Given the description of an element on the screen output the (x, y) to click on. 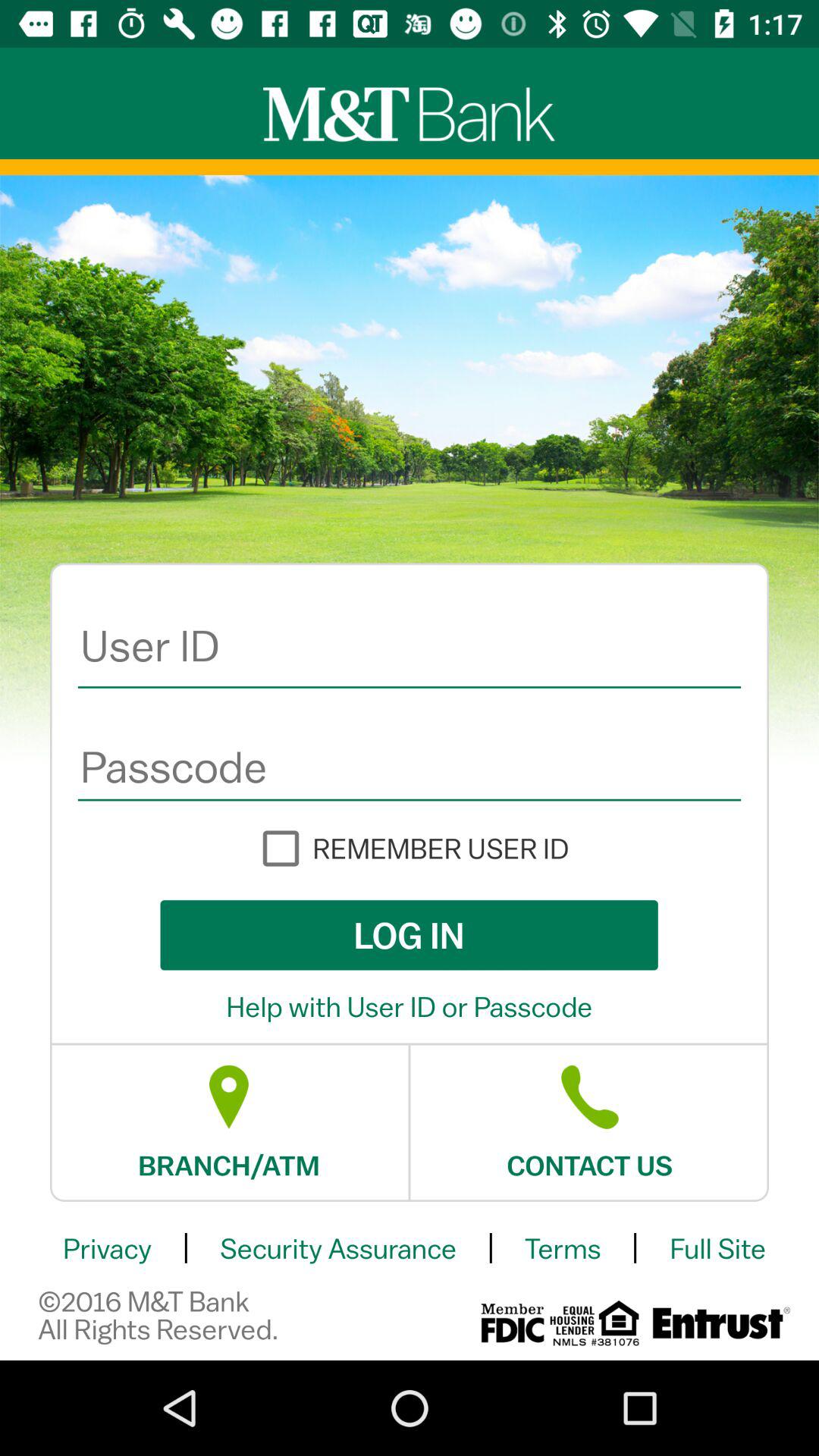
select terms (562, 1247)
